Given the description of an element on the screen output the (x, y) to click on. 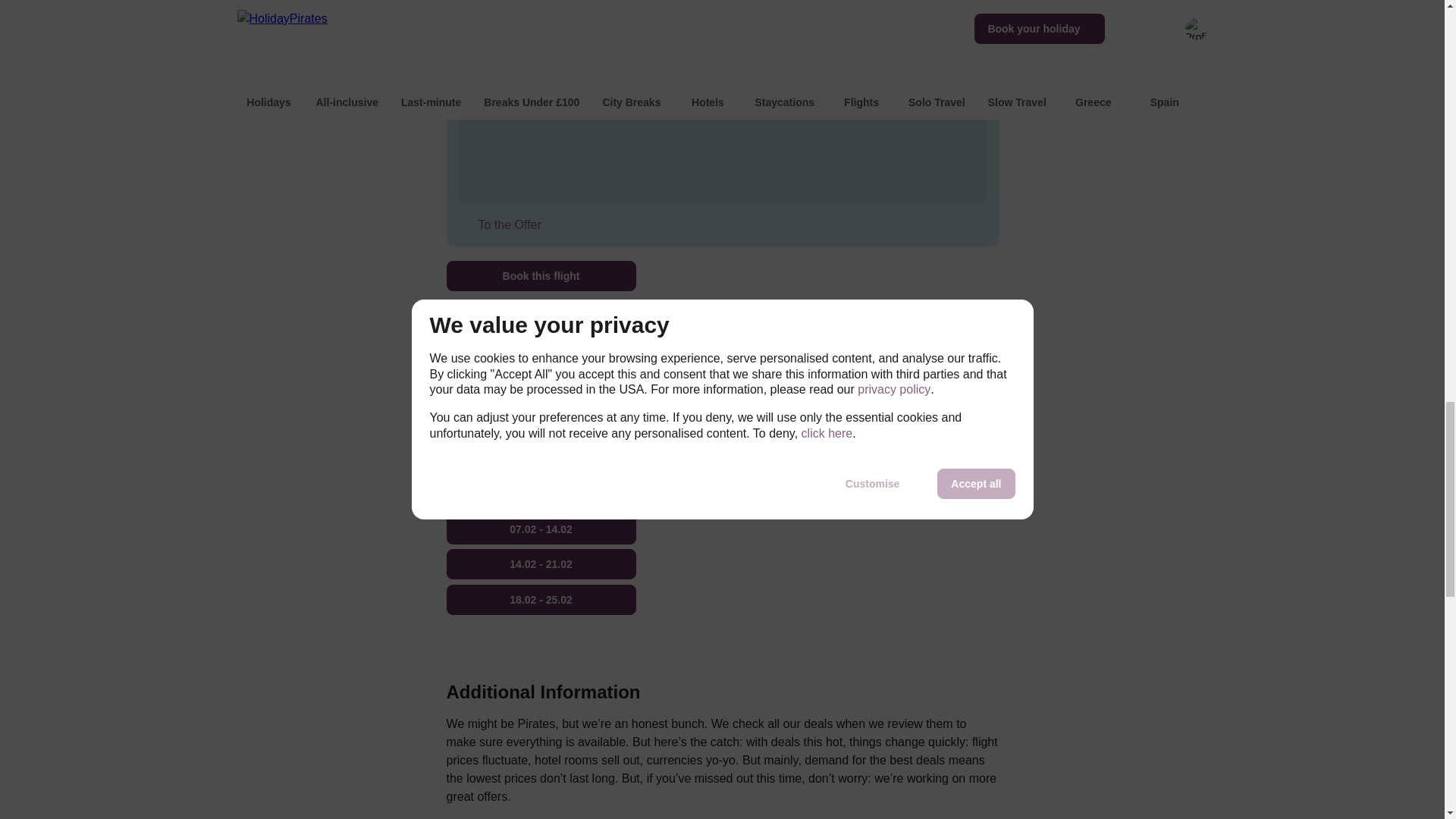
To the Offer (505, 225)
